Given the description of an element on the screen output the (x, y) to click on. 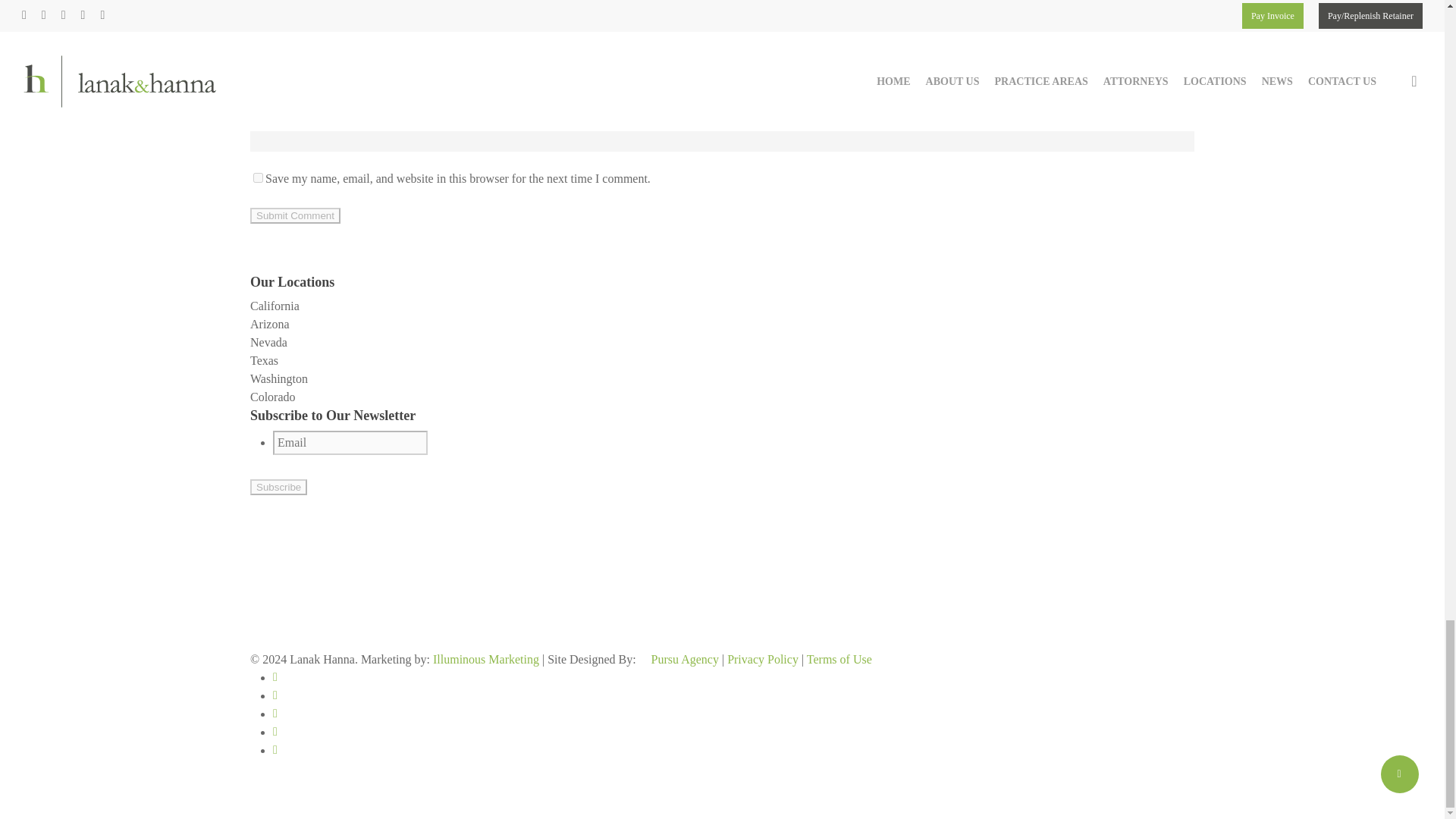
yes (258, 177)
Submit Comment (295, 215)
Subscribe (278, 487)
